Given the description of an element on the screen output the (x, y) to click on. 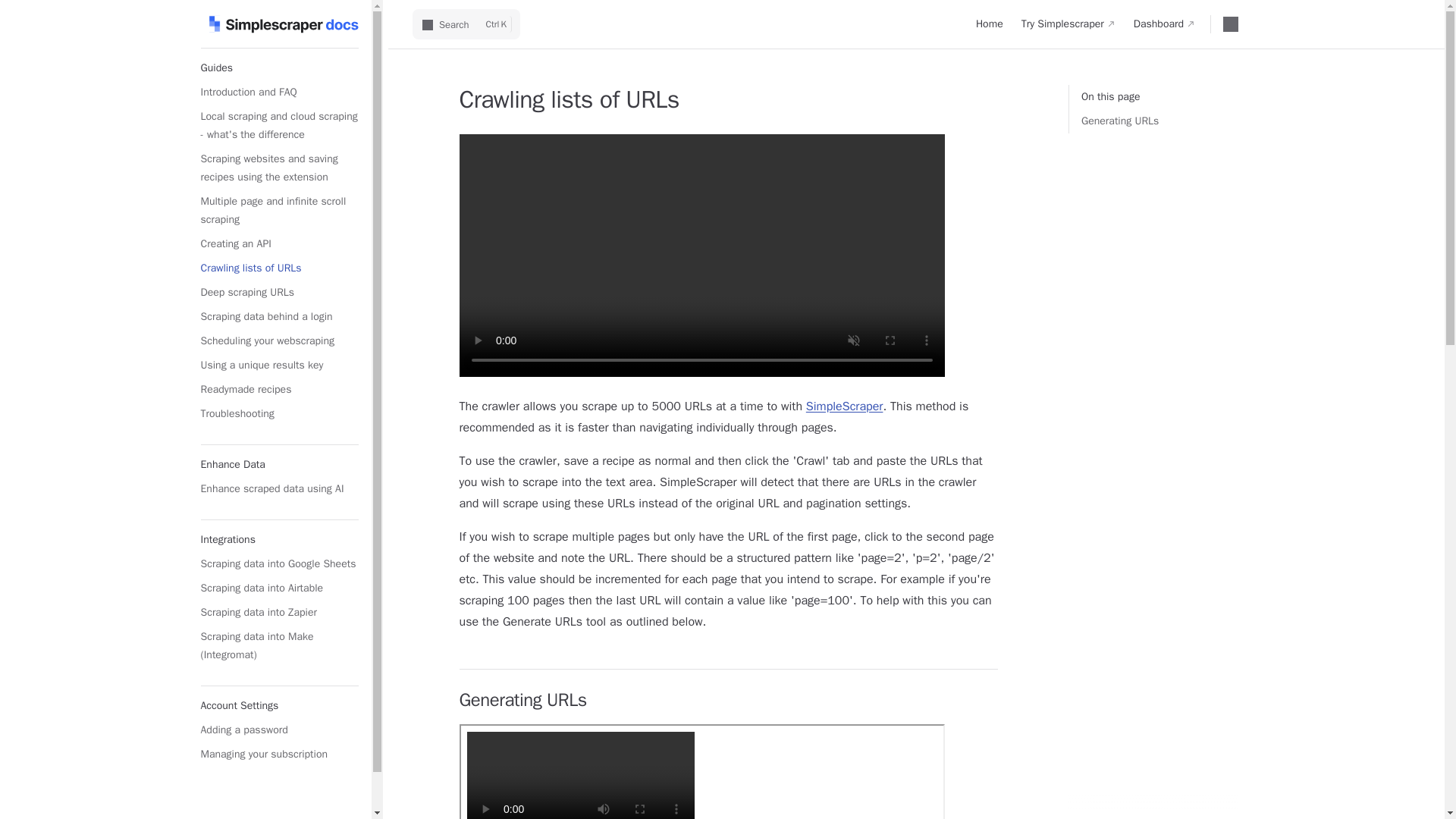
Scraping data into Google Sheets (279, 564)
Enhance scraped data using AI (279, 488)
Scraping data into Zapier (279, 612)
Try Simplescraper (1067, 24)
Using a unique results key (279, 364)
SimpleScraper (844, 406)
Scraping websites and saving recipes using the extension (279, 168)
Scraping data into Airtable (279, 588)
Generating URLs (1169, 120)
Adding a password (279, 730)
Troubleshooting (279, 413)
Generating URLs (1169, 120)
Multiple page and infinite scroll scraping (279, 210)
Scraping data behind a login (279, 316)
Introduction and FAQ (279, 92)
